Given the description of an element on the screen output the (x, y) to click on. 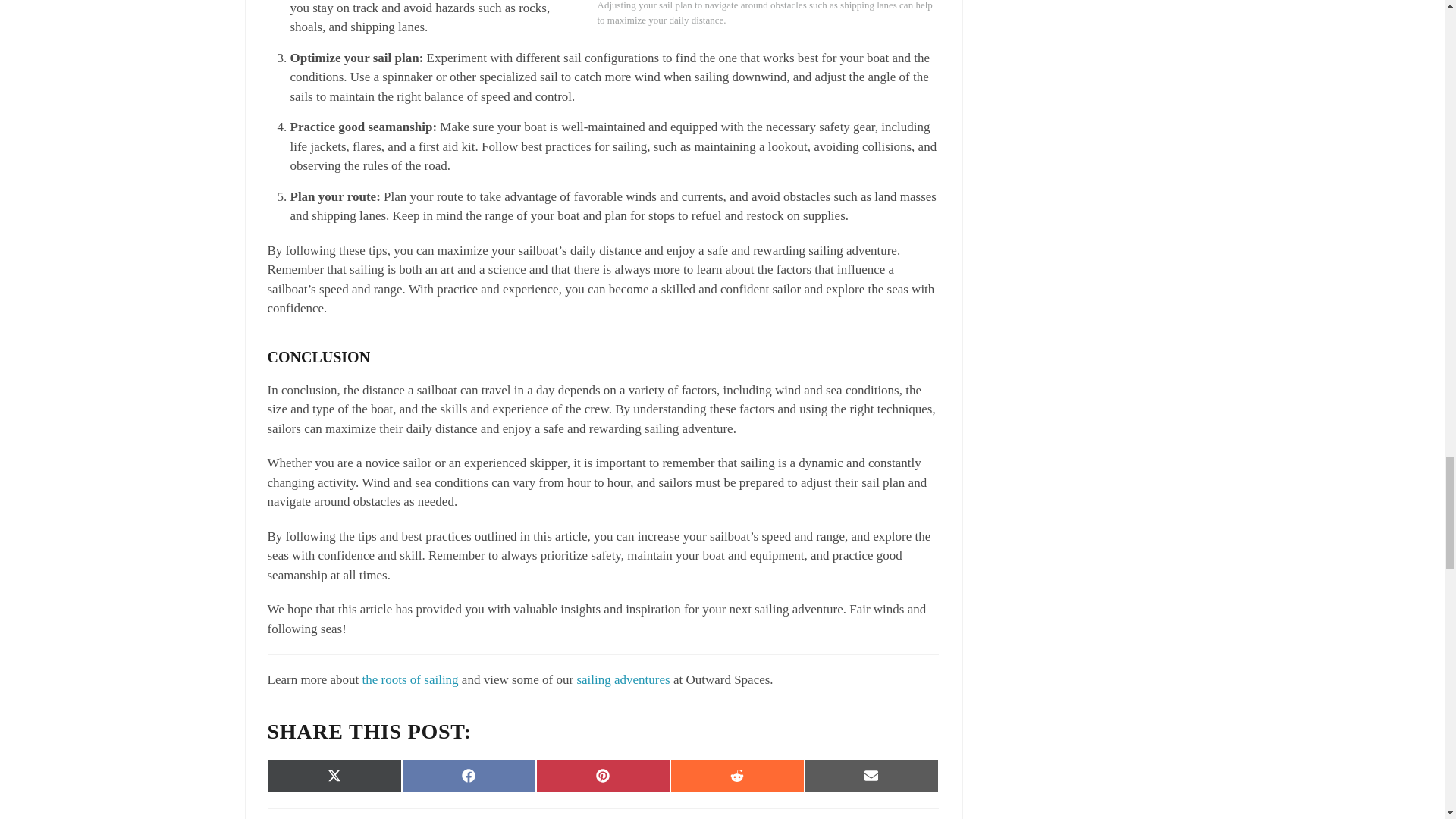
Share on Reddit (737, 775)
the roots of sailing (410, 679)
sailing adventures (622, 679)
Share on Pinterest (602, 775)
Share on Email (870, 775)
Share on Facebook (468, 775)
